Given the description of an element on the screen output the (x, y) to click on. 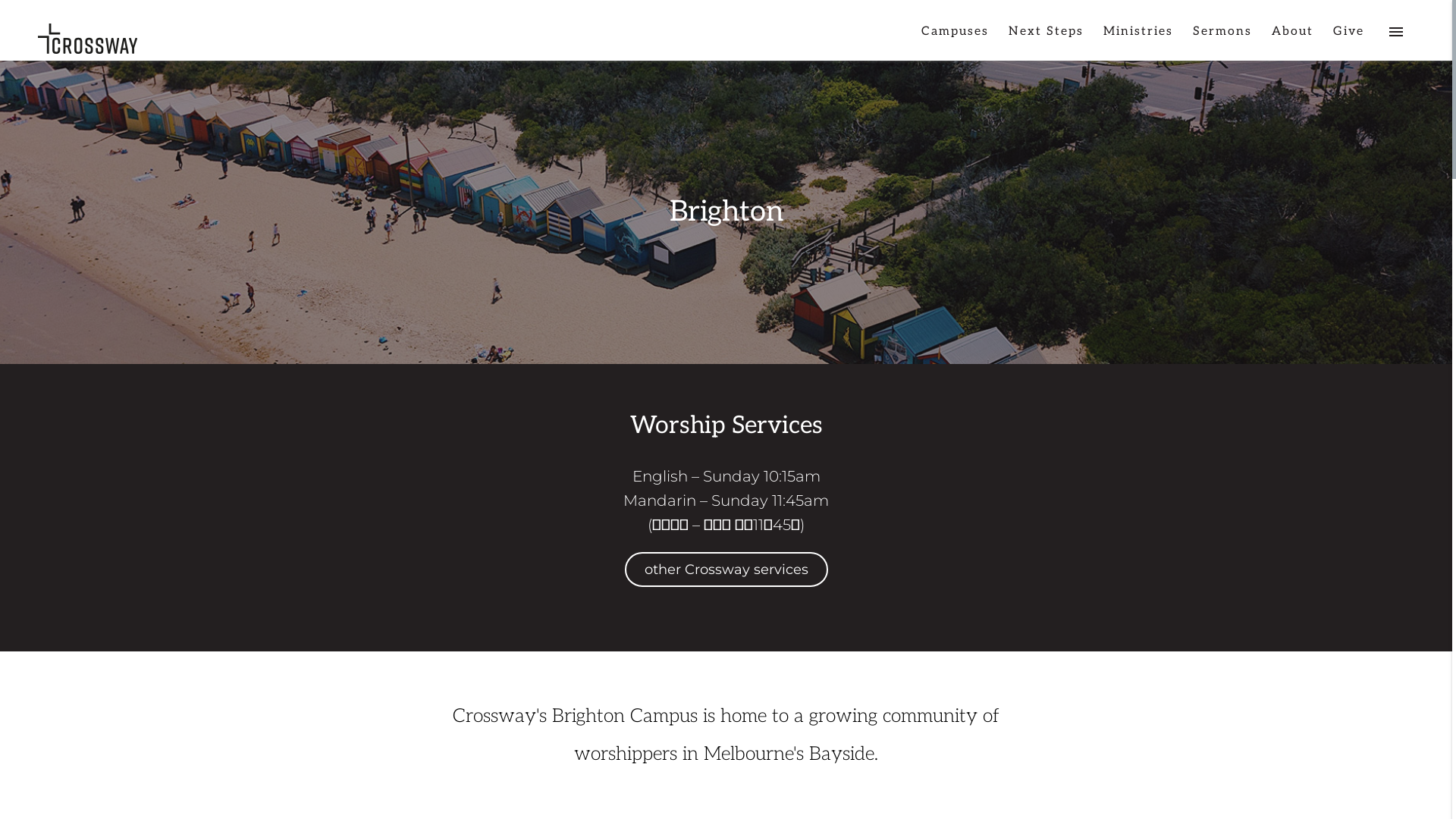
Give Element type: text (1348, 37)
About Element type: text (1292, 37)
Campuses Element type: text (954, 37)
Sermons Element type: text (1222, 37)
Ministries Element type: text (1138, 37)
other Crossway services Element type: text (726, 569)
Next Steps Element type: text (1045, 37)
menu Element type: text (1395, 37)
